Given the description of an element on the screen output the (x, y) to click on. 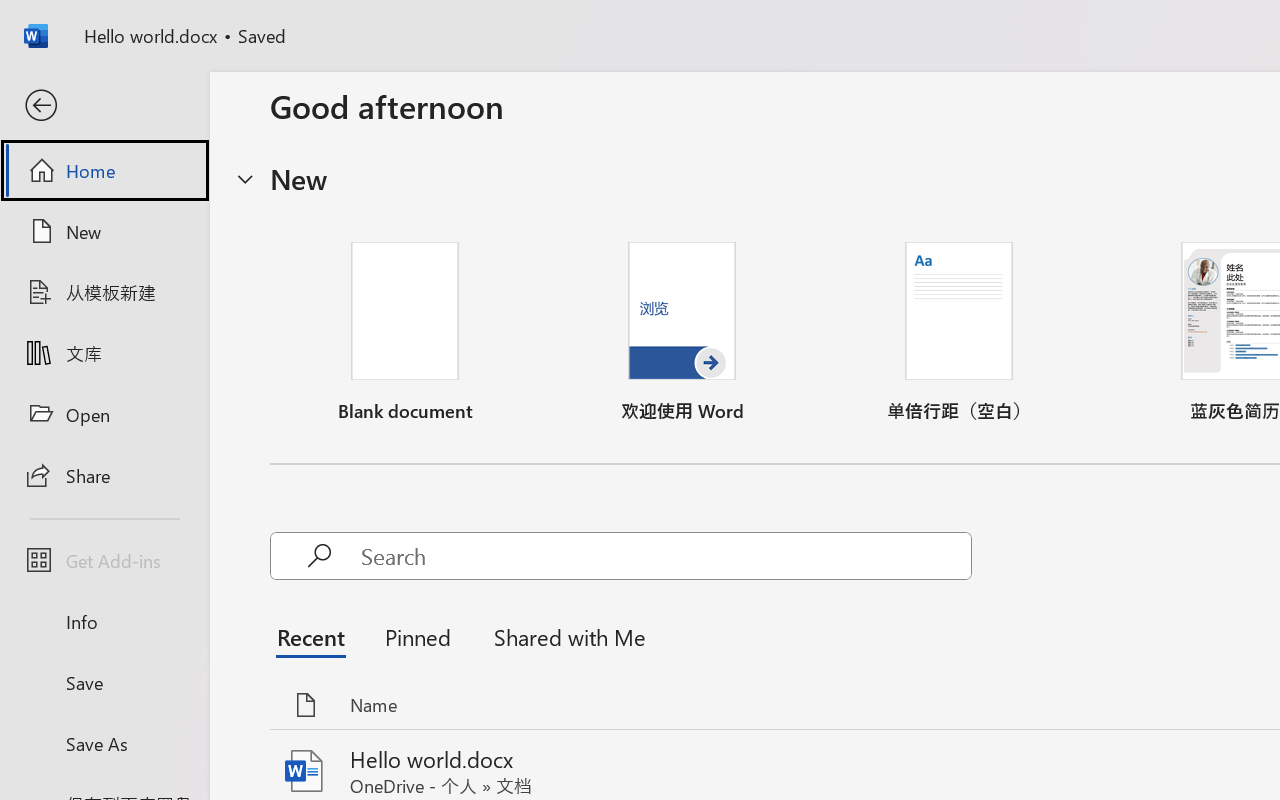
Info (104, 621)
Shared with Me (563, 636)
Save (104, 682)
Search (665, 555)
Pinned (417, 636)
New (104, 231)
